Given the description of an element on the screen output the (x, y) to click on. 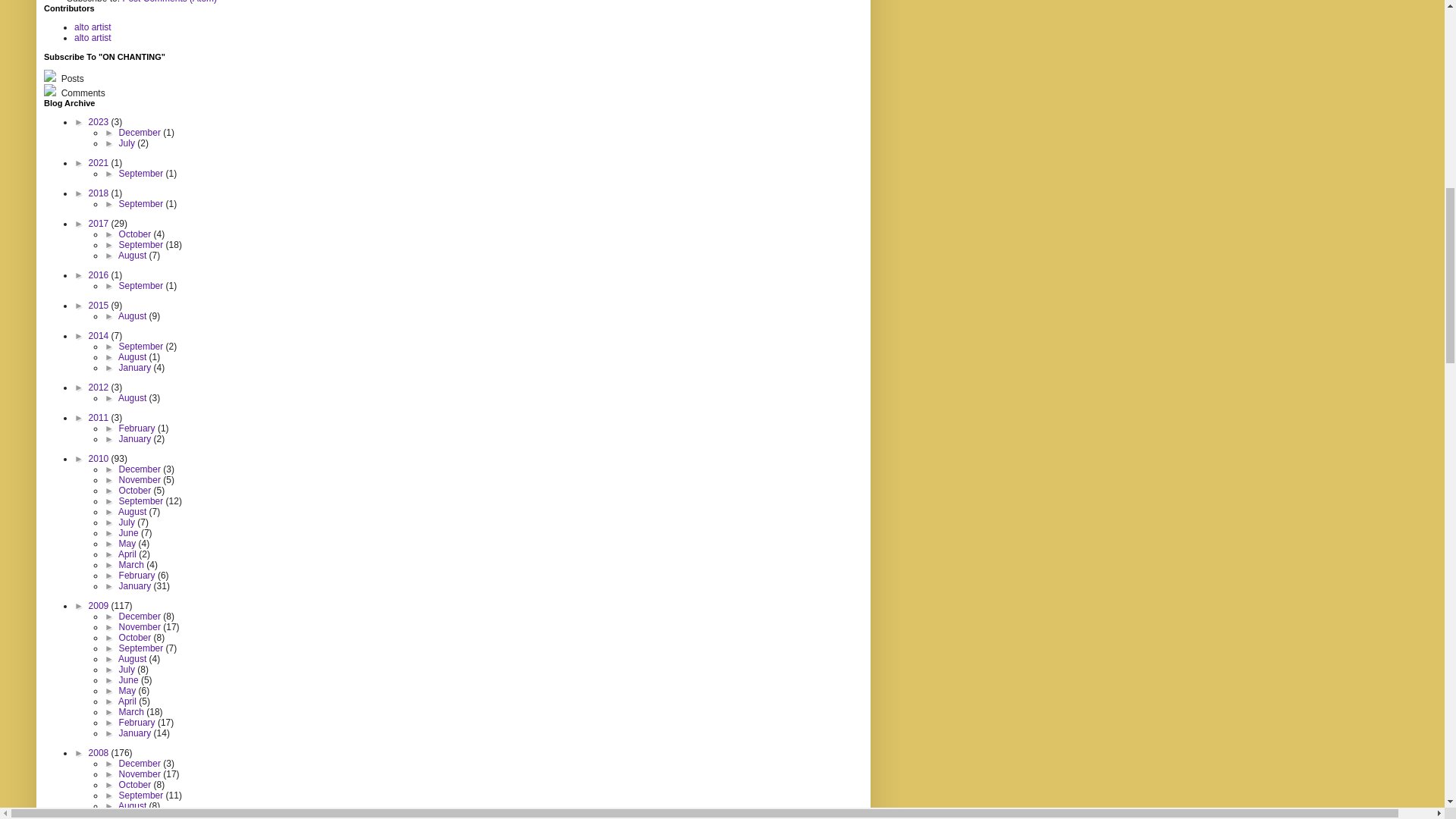
2021 (100, 163)
2023 (100, 122)
September (142, 173)
July (128, 143)
alto artist (93, 27)
alto artist (93, 37)
December (141, 132)
